Given the description of an element on the screen output the (x, y) to click on. 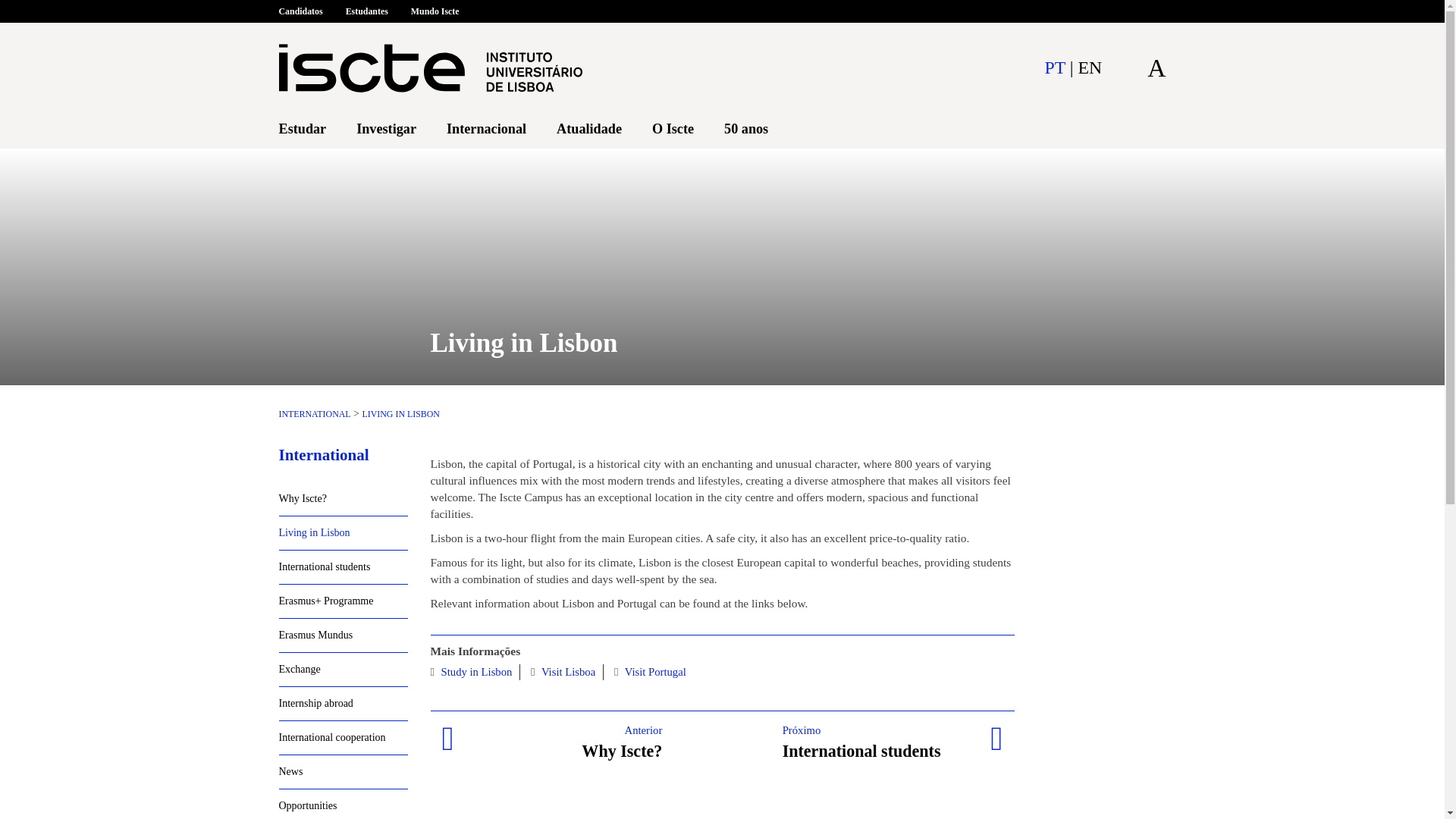
Estudar (302, 128)
Investigar (386, 128)
Candidatos (306, 14)
PT (1053, 66)
Estudantes (366, 14)
EN (1090, 66)
Mundo Iscte (434, 14)
